Given the description of an element on the screen output the (x, y) to click on. 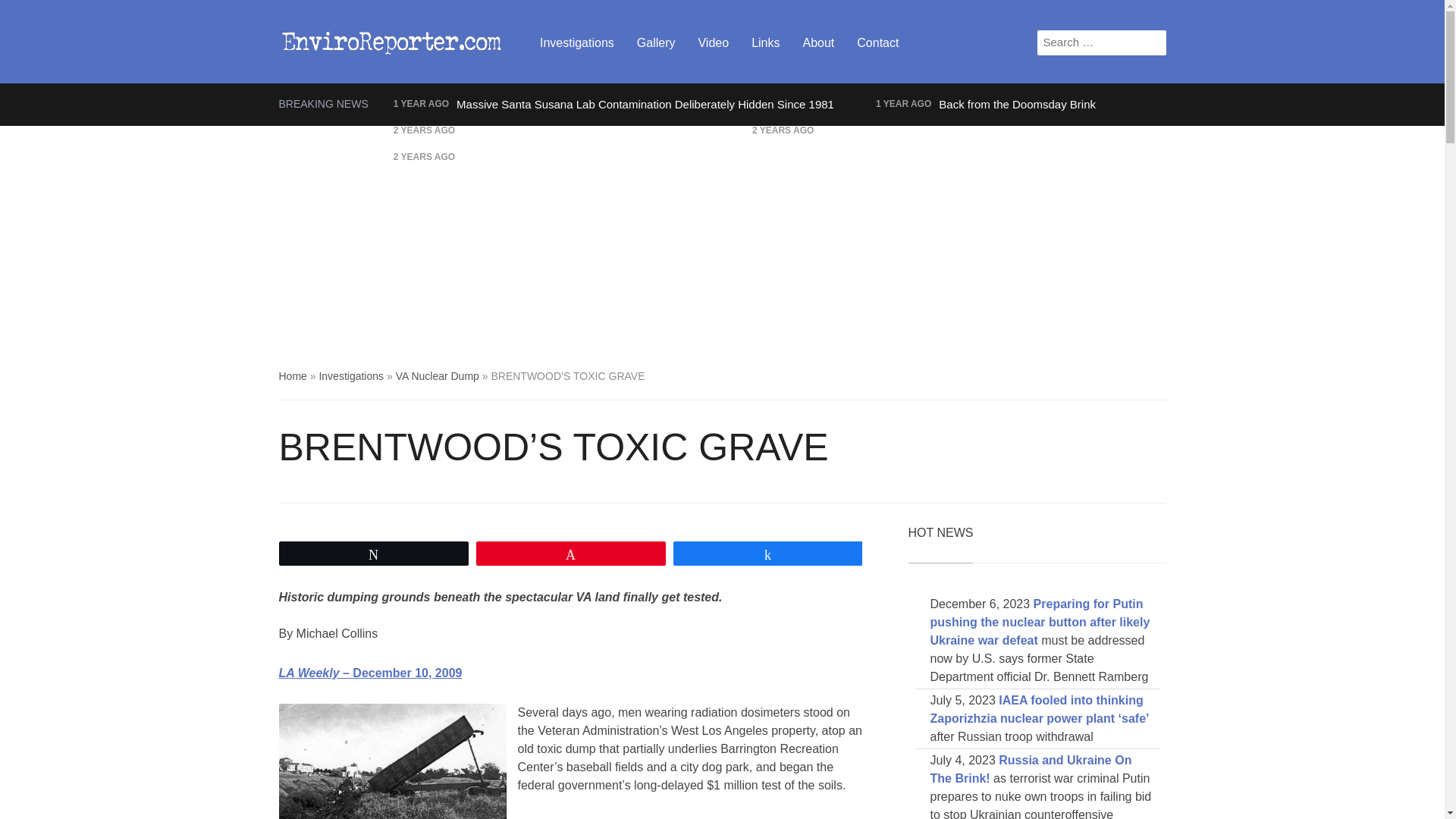
International List of Radiation Monitoring Stations (586, 130)
Back from the Doomsday Brink (1017, 103)
1971- Dumping into unlined VA ravine adjacent to Brentwood (392, 761)
Brandeis-Bardin Groundwater Toxins Hit Historic Highs (959, 130)
Search (1154, 42)
Hot News. Real Hot News. (392, 39)
Search (1154, 42)
State Secretly Kills Santa Susana Field Lab Cleanup (594, 156)
